Given the description of an element on the screen output the (x, y) to click on. 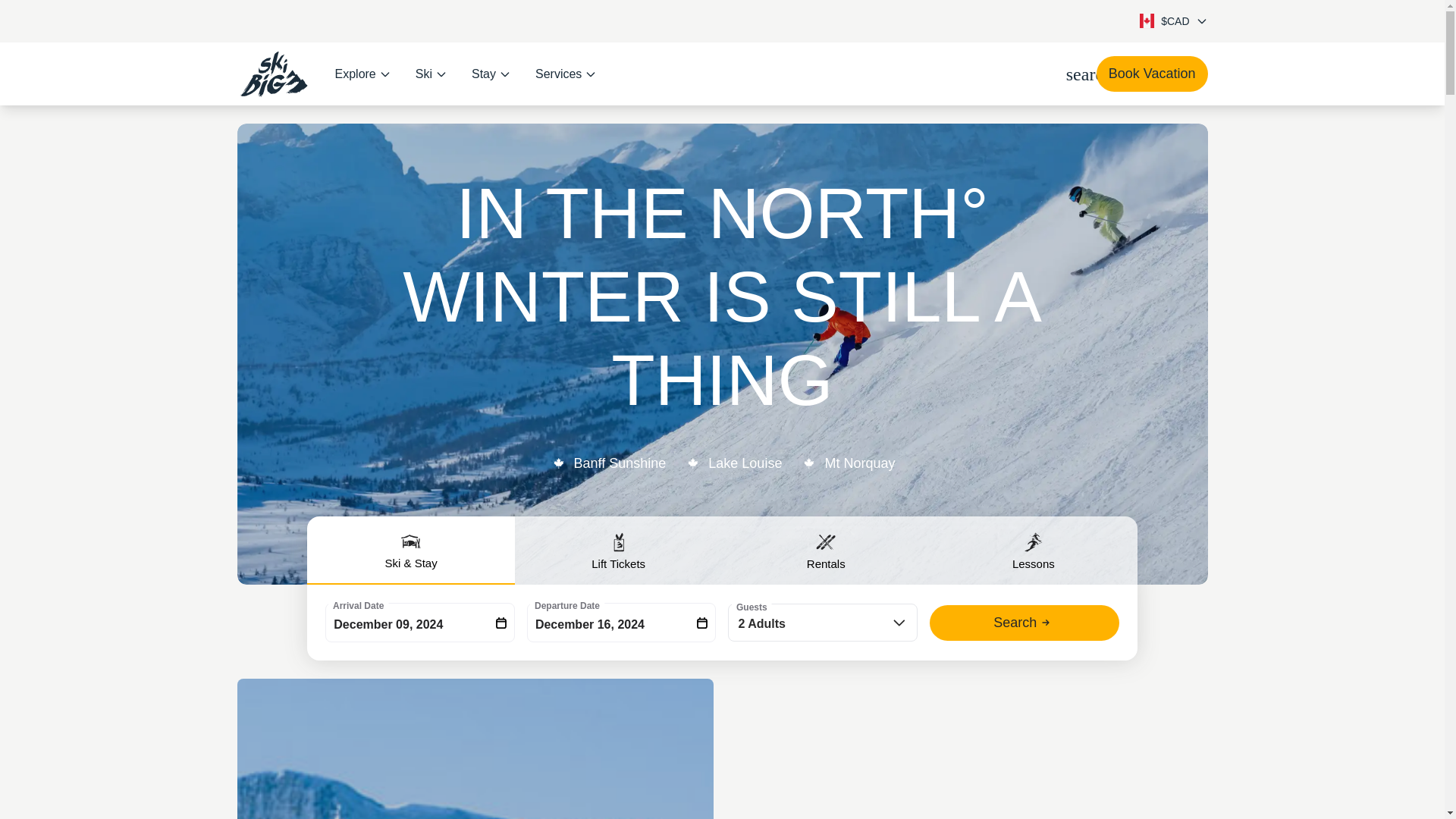
Book Vacation (1152, 73)
December 09, 2024 (419, 622)
Lessons (1033, 550)
search (1074, 74)
Search (1024, 622)
Search (1024, 622)
Lift Tickets (618, 550)
Book Vacation (1152, 73)
December 16, 2024 (621, 622)
Rentals (826, 550)
